Given the description of an element on the screen output the (x, y) to click on. 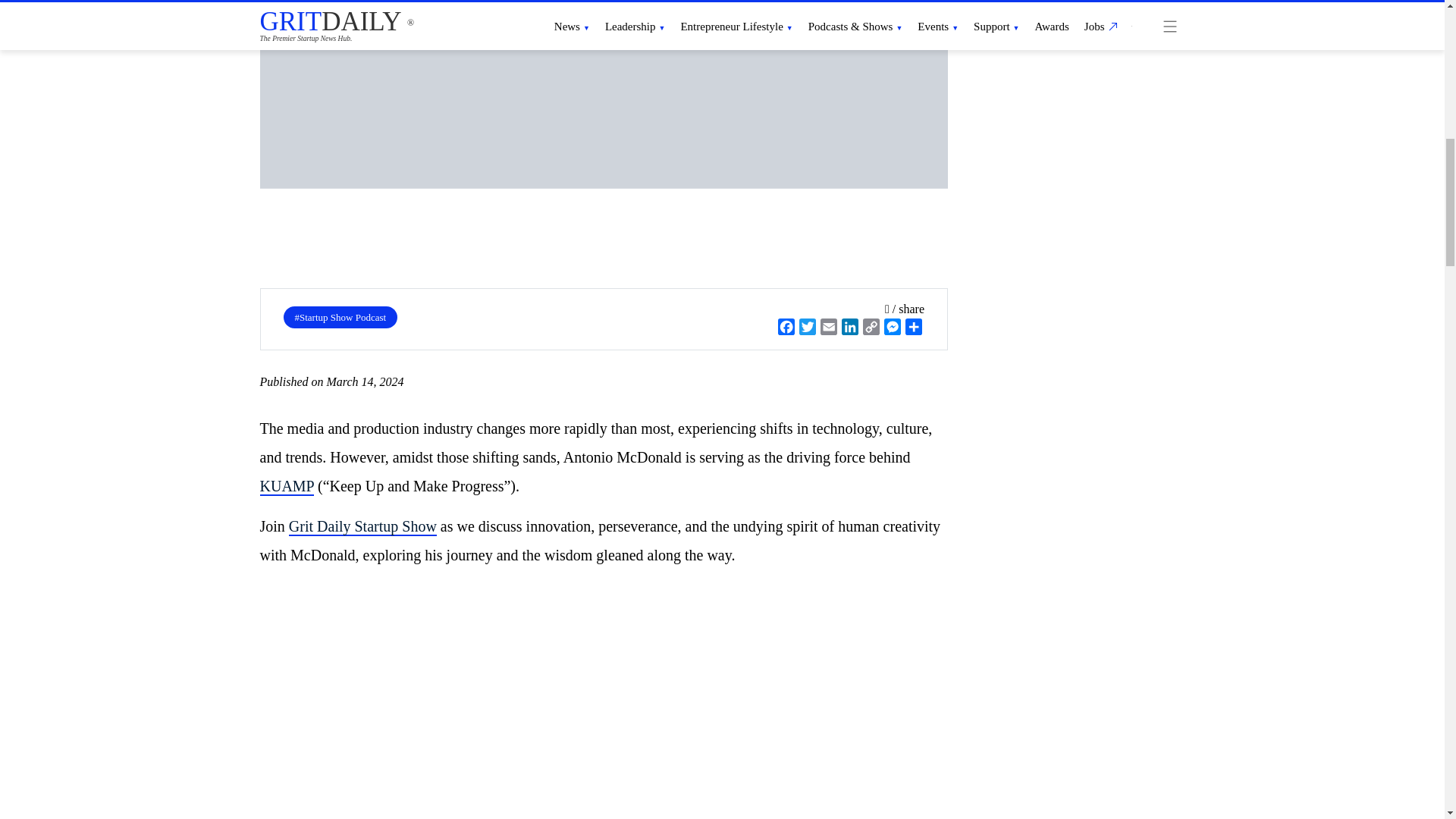
Email (1184, 812)
Twitter (1153, 812)
Messenger (1274, 812)
Copy Link (1243, 812)
LinkedIn (1214, 812)
Facebook (1123, 812)
